Given the description of an element on the screen output the (x, y) to click on. 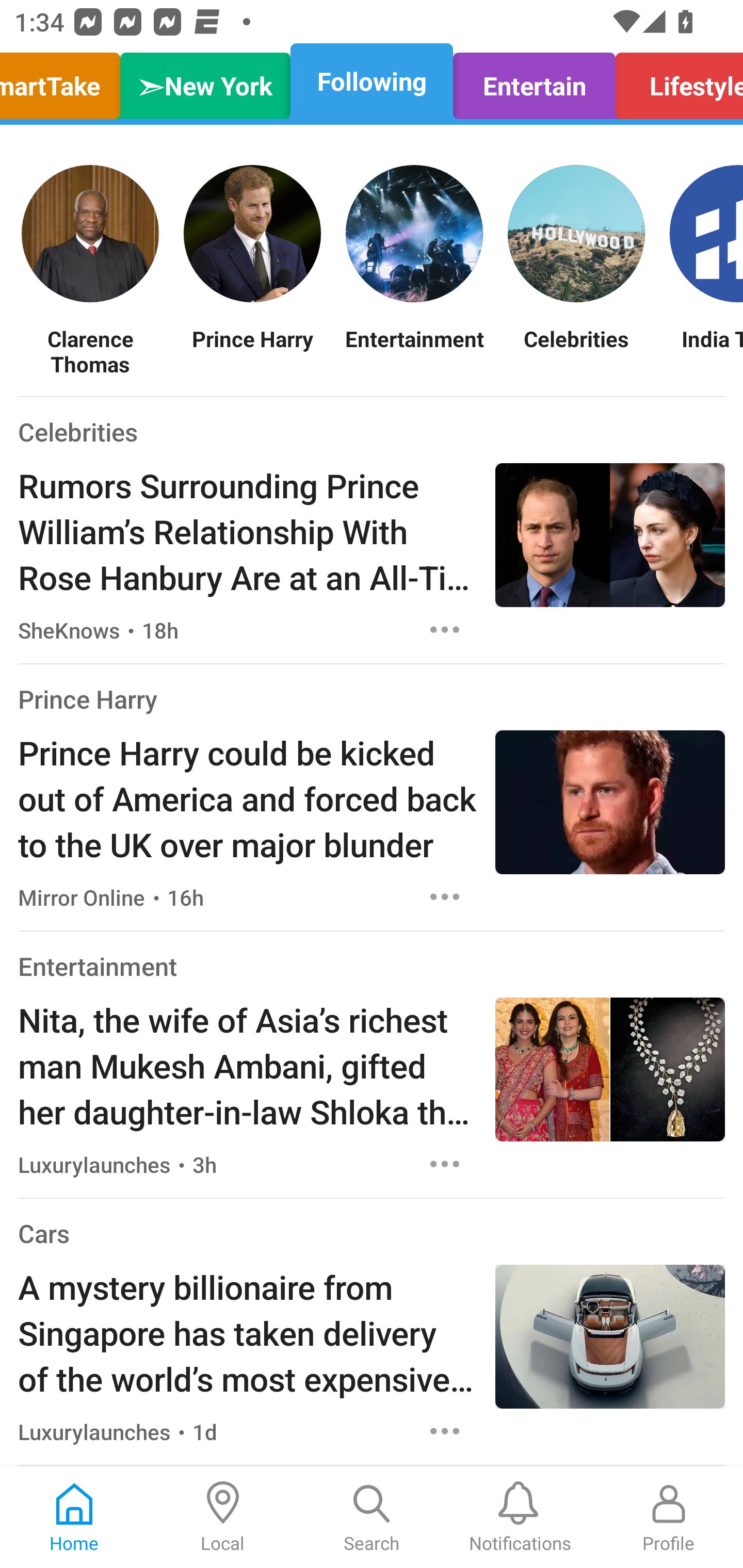
➣New York (205, 81)
Following (371, 81)
Entertain (534, 81)
Clarence Thomas (89, 350)
Prince Harry (251, 350)
Entertainment (413, 350)
Celebrities (575, 350)
Celebrities (77, 430)
Options (444, 629)
Prince Harry (87, 699)
Options (444, 896)
Entertainment (97, 965)
Options (444, 1164)
Cars (43, 1232)
Options (444, 1431)
Local (222, 1517)
Search (371, 1517)
Notifications (519, 1517)
Profile (668, 1517)
